Given the description of an element on the screen output the (x, y) to click on. 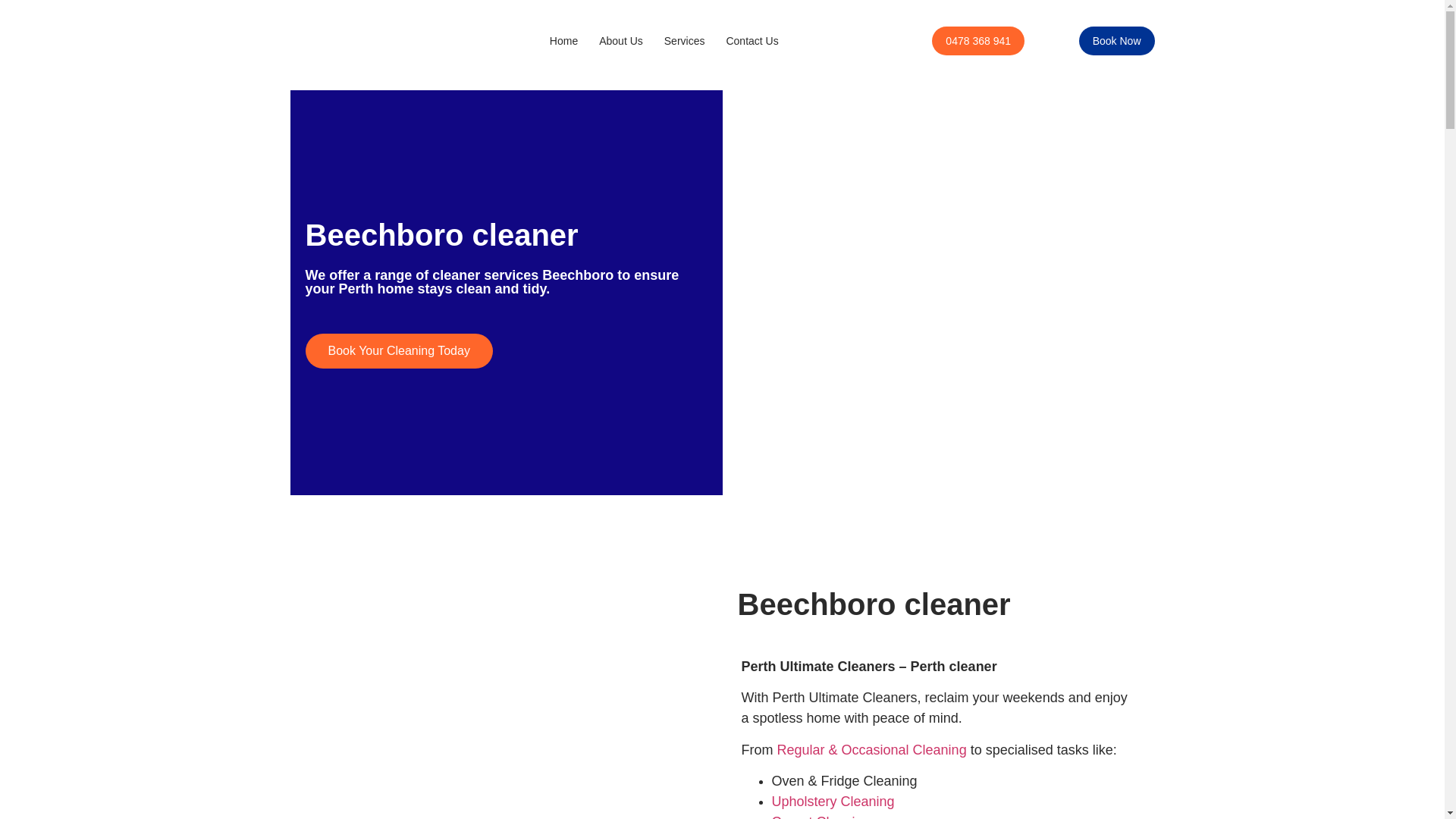
Services (684, 40)
Home (563, 40)
About Us (620, 40)
